Given the description of an element on the screen output the (x, y) to click on. 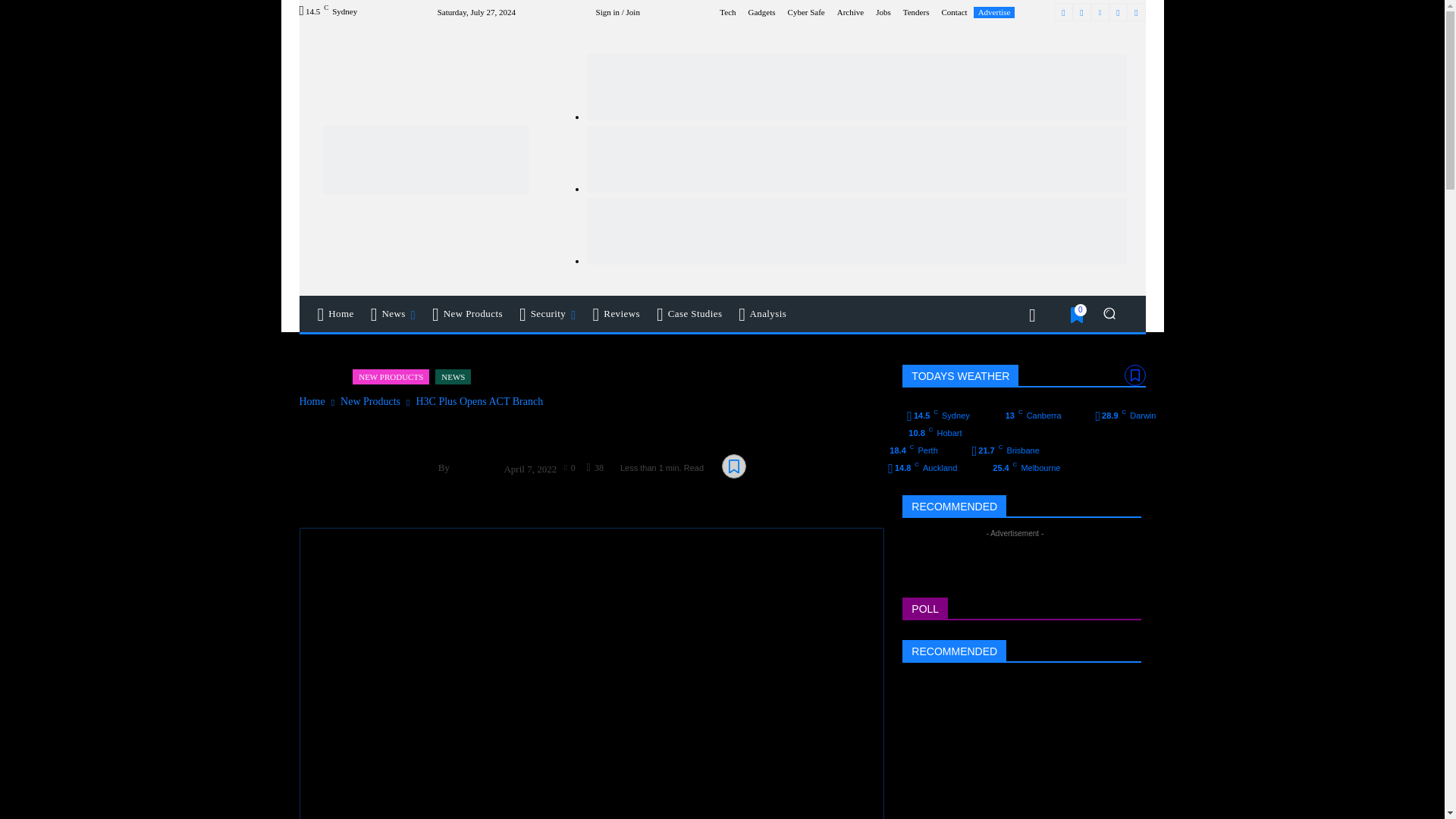
News (393, 313)
Contact (953, 11)
Tenders (916, 11)
Instagram (1080, 12)
Tech (727, 11)
Facebook (1062, 12)
Gadgets (762, 11)
Advertise (993, 12)
Archive (850, 11)
Home (335, 313)
Linkedin (1099, 12)
Jobs (883, 11)
Cyber Safe (806, 11)
